Given the description of an element on the screen output the (x, y) to click on. 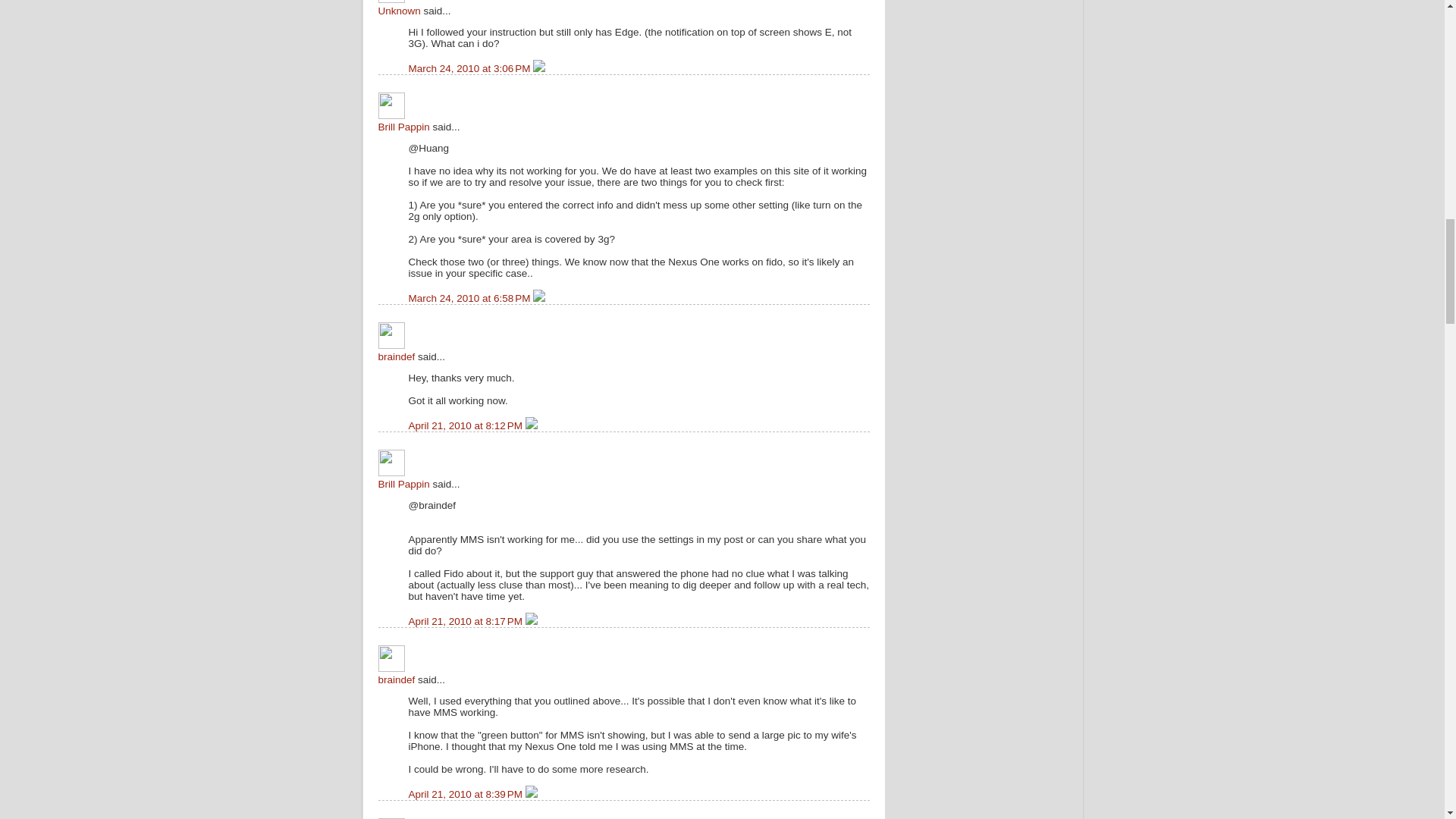
Unknown (398, 10)
Delete Comment (538, 68)
comment permalink (469, 68)
braindef (395, 356)
comment permalink (469, 297)
Brill Pappin (403, 126)
Brill Pappin (403, 483)
Unknown (390, 1)
Brill Pappin (390, 105)
